Given the description of an element on the screen output the (x, y) to click on. 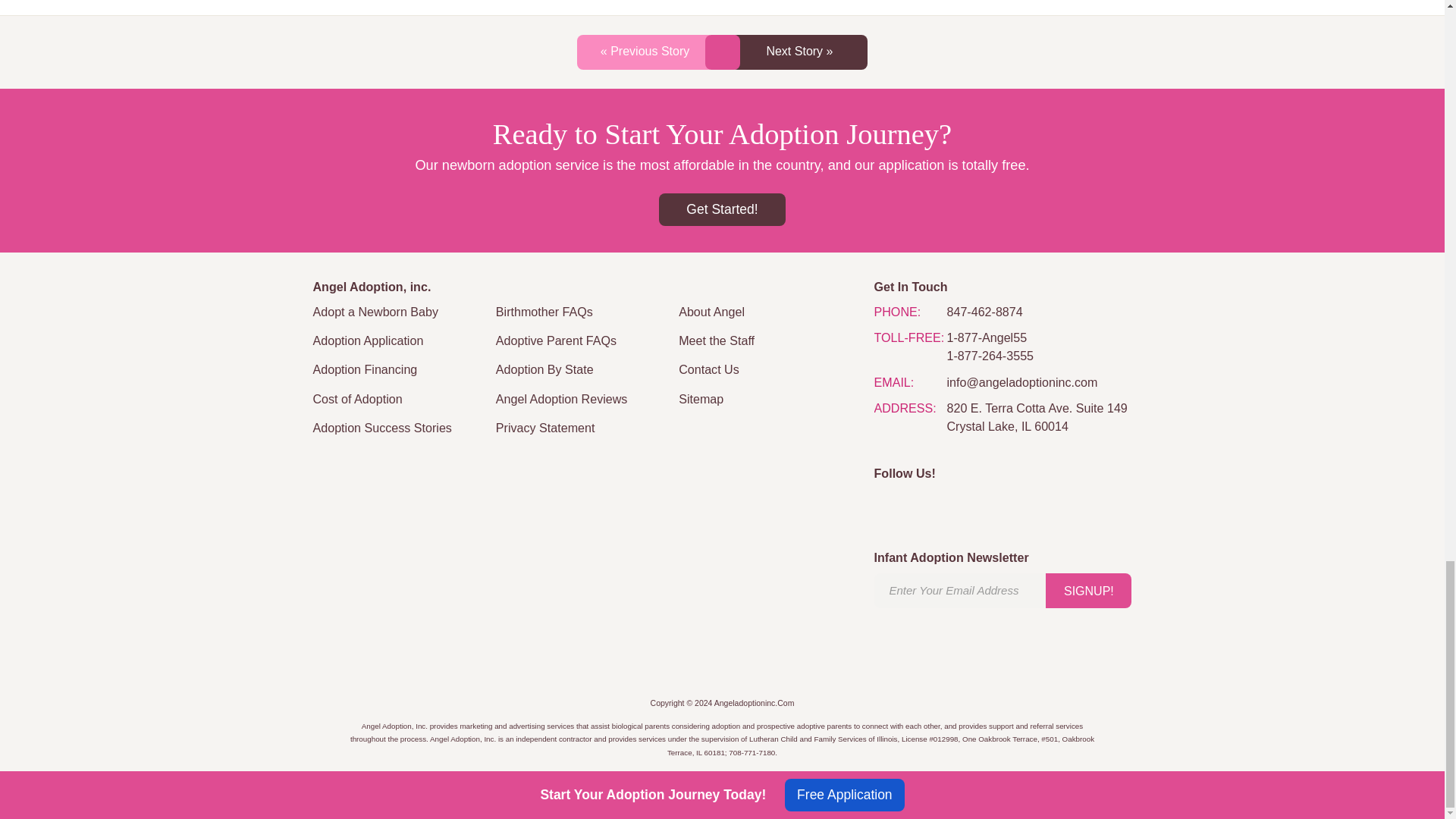
signup! (1088, 590)
